Given the description of an element on the screen output the (x, y) to click on. 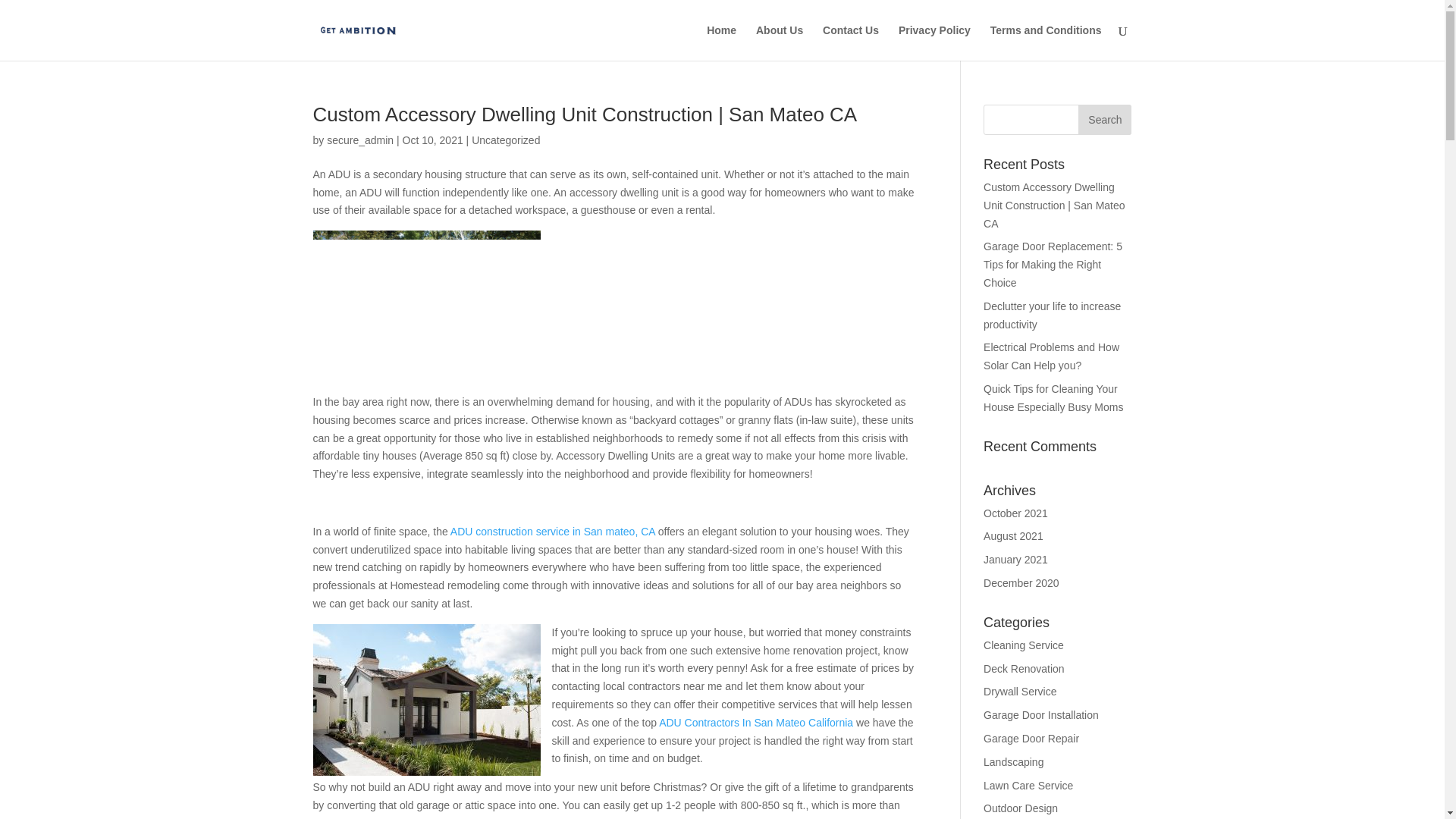
Terms and Conditions (1046, 42)
January 2021 (1016, 559)
Search (1104, 119)
Search (1104, 119)
Uncategorized (505, 140)
Contact Us (850, 42)
Cleaning Service (1024, 645)
ADU Contractors In San Mateo California (756, 722)
Electrical Problems and How Solar Can Help you?  (1051, 356)
Quick Tips for Cleaning Your House Especially Busy Moms  (1054, 398)
